Given the description of an element on the screen output the (x, y) to click on. 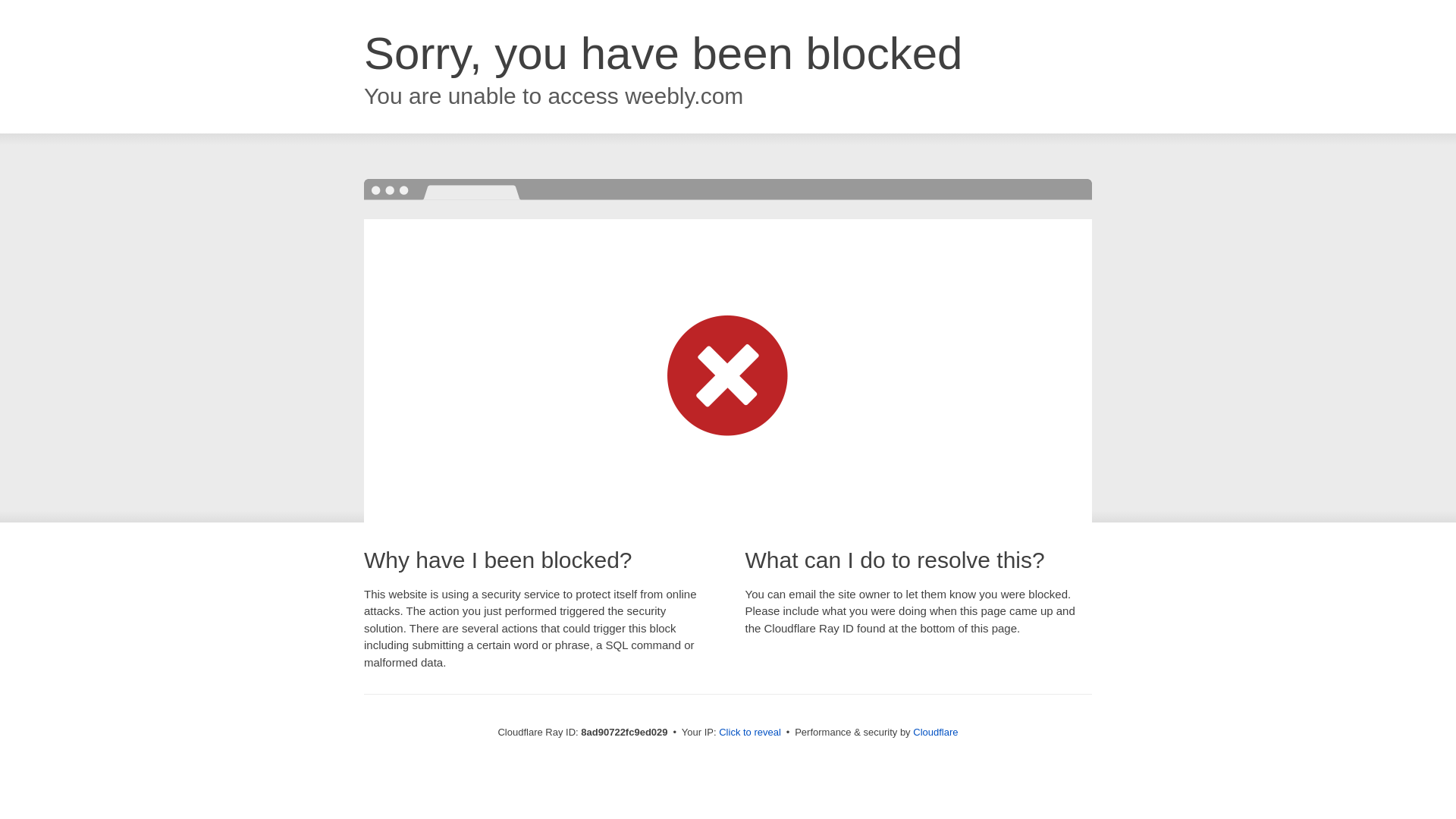
Cloudflare (935, 731)
Click to reveal (749, 732)
